Given the description of an element on the screen output the (x, y) to click on. 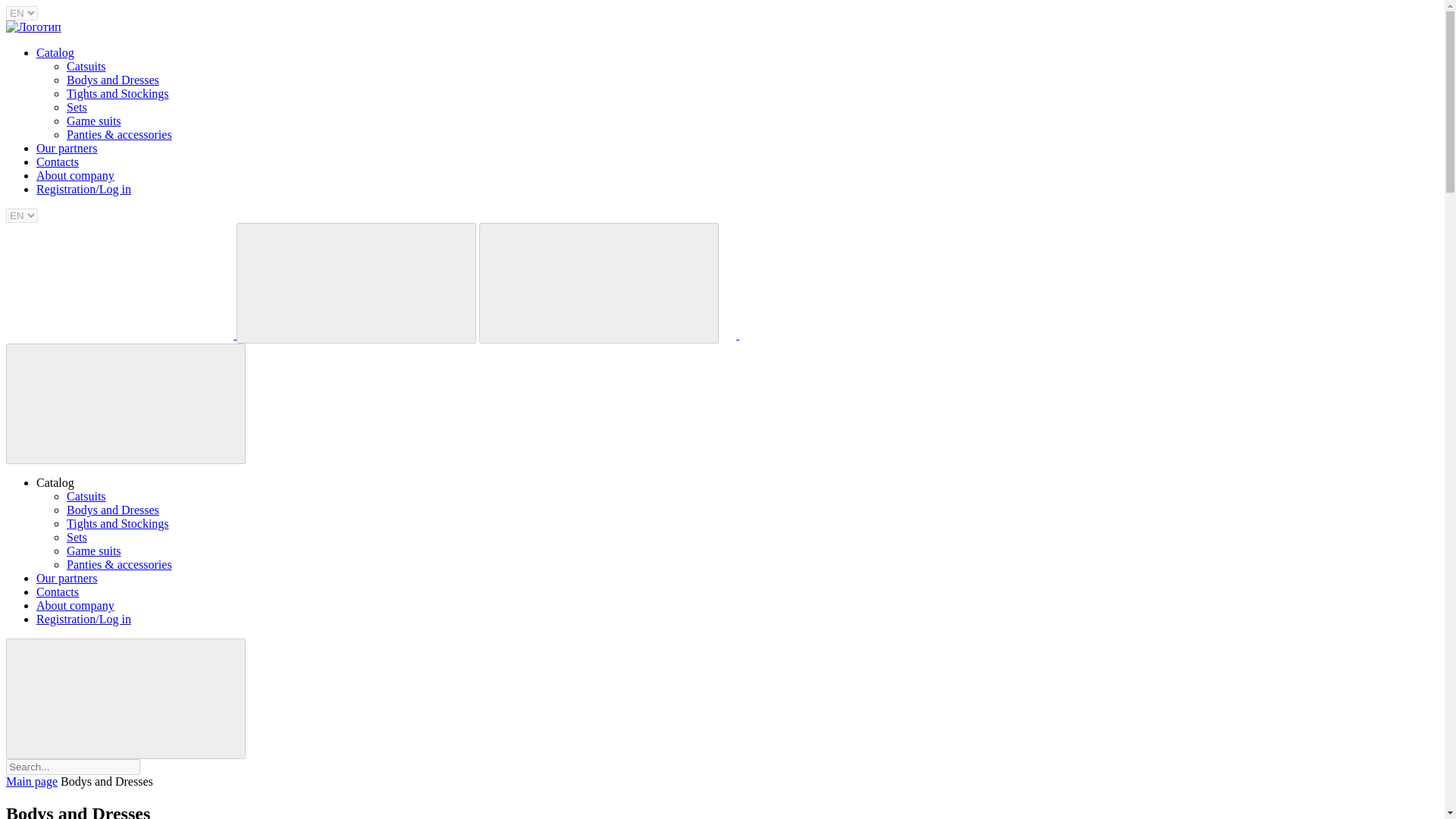
Tights and Stockings (117, 522)
Catsuits (86, 495)
Contacts (57, 591)
Catsuits (86, 65)
Contacts (57, 161)
Our partners (66, 147)
Main page (31, 780)
Sets (76, 106)
Game suits (93, 120)
Bodys and Dresses (112, 79)
Game suits (93, 550)
Catalog (55, 51)
Bodys and Dresses (112, 509)
About company (75, 604)
Tights and Stockings (117, 92)
